Given the description of an element on the screen output the (x, y) to click on. 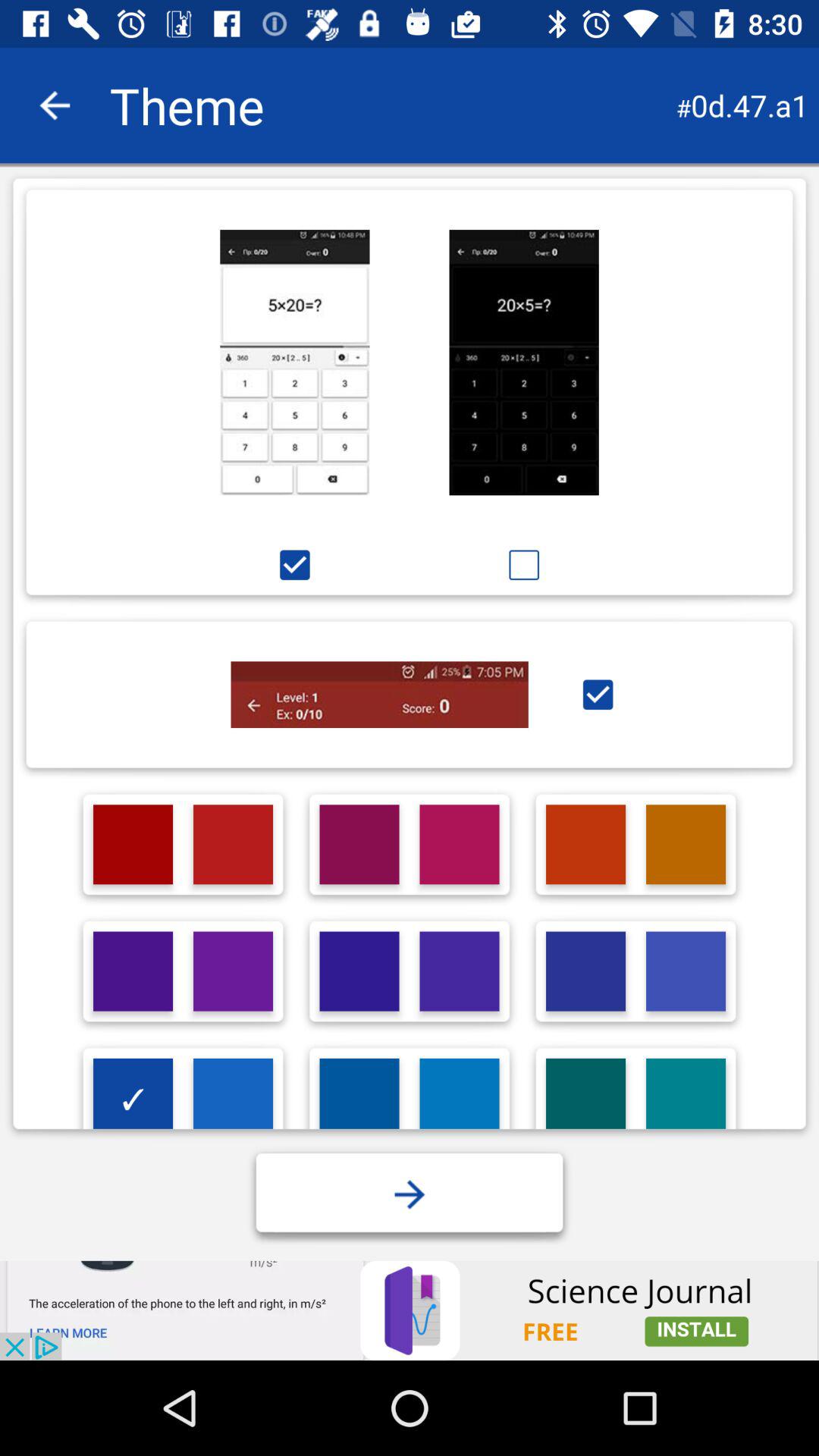
go to next section (409, 1194)
